Given the description of an element on the screen output the (x, y) to click on. 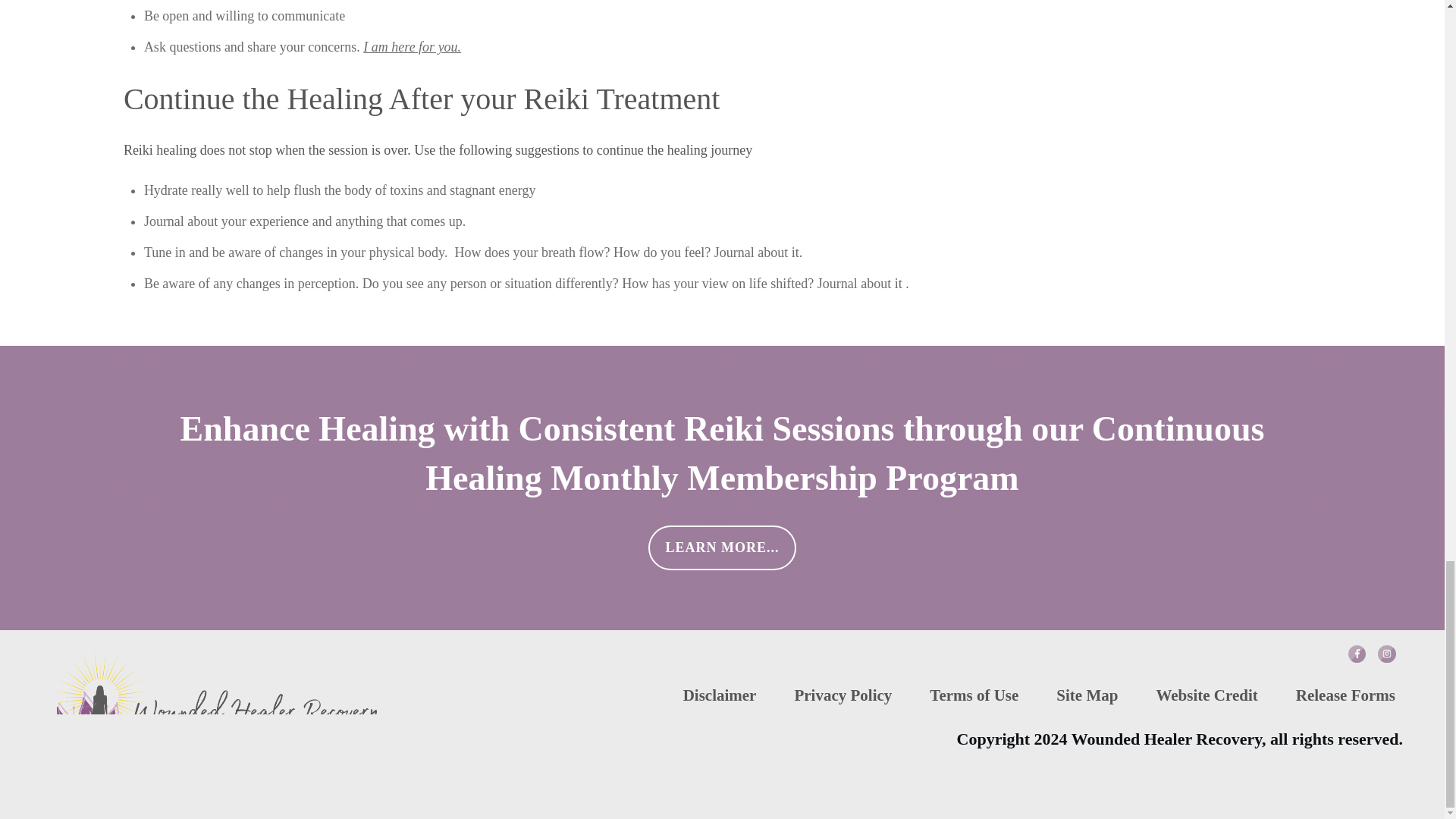
Website Credit (1206, 695)
LEARN MORE... (720, 547)
Disclaimer (719, 695)
Release Forms (1344, 695)
Terms of Use (973, 695)
Site Map (1087, 695)
Privacy Policy (842, 695)
